Given the description of an element on the screen output the (x, y) to click on. 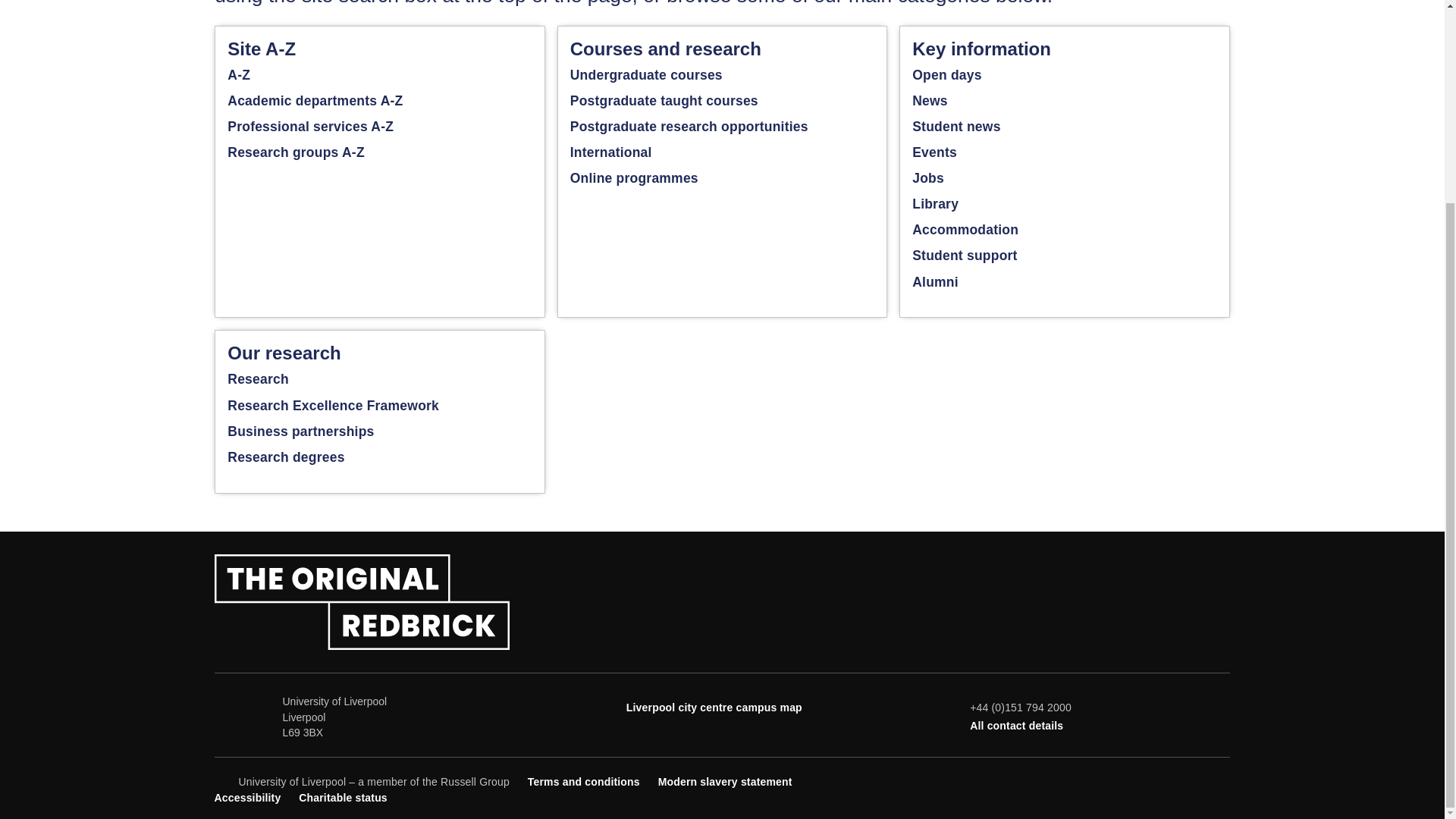
instagram (1196, 779)
Alumni (935, 281)
Terms and Conditions (583, 781)
Events (934, 151)
youtube (1170, 779)
News (956, 126)
Library (935, 203)
Jobs (927, 177)
Contact us (1015, 725)
Modern slavery statement (725, 781)
